Given the description of an element on the screen output the (x, y) to click on. 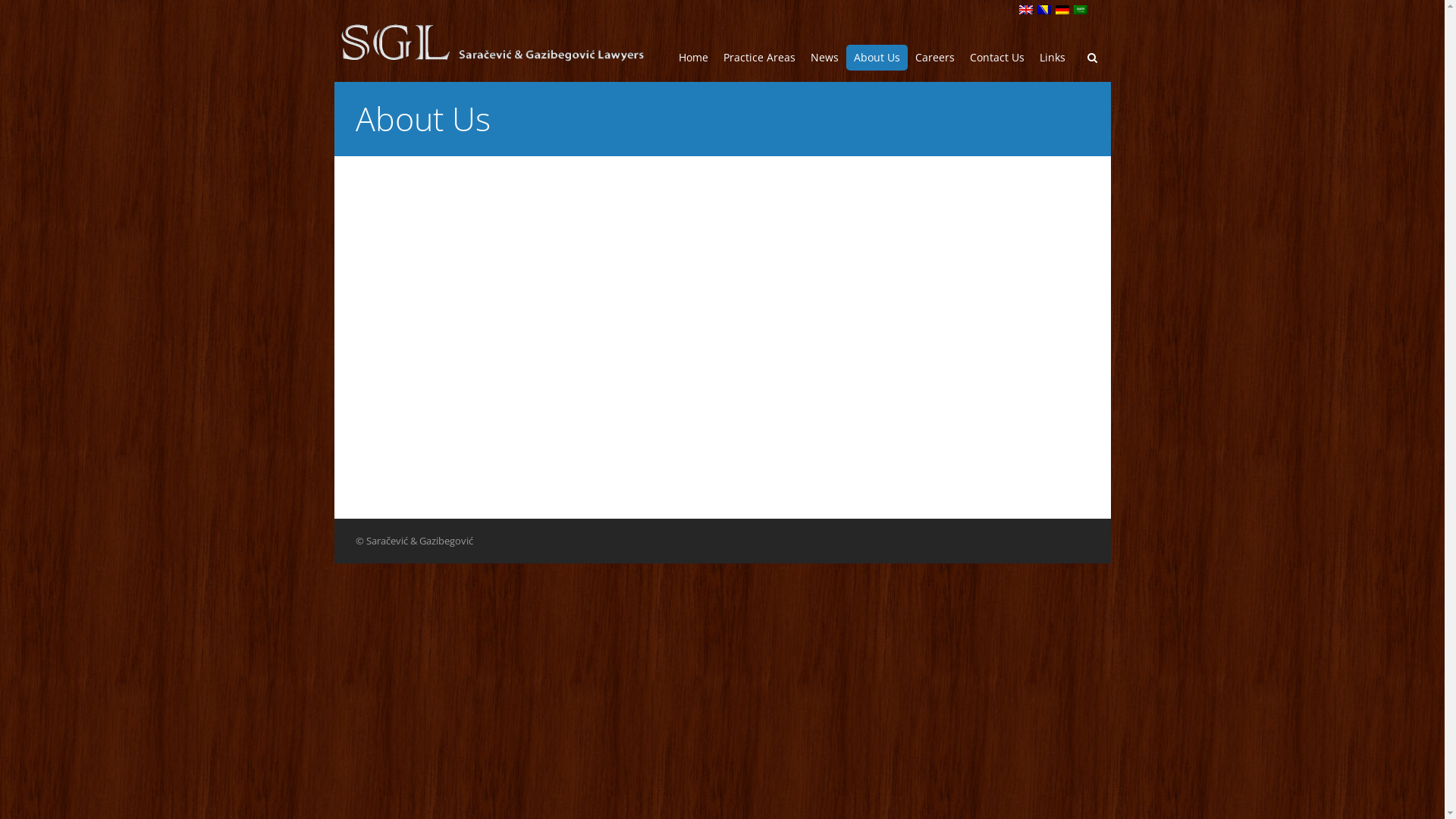
Search Element type: text (1065, 162)
Bosnian Element type: hover (1044, 9)
  Element type: text (1064, 10)
  Element type: text (1081, 10)
Go back to the homepage Element type: hover (491, 41)
Practice Areas Element type: text (759, 56)
English Element type: hover (1025, 9)
  Element type: text (1028, 10)
Links Element type: text (1051, 56)
About Us Element type: text (876, 56)
Deutsch Element type: hover (1062, 9)
News Element type: text (823, 56)
Careers Element type: text (933, 56)
Home Element type: text (692, 56)
Contact Us Element type: text (996, 56)
  Element type: text (1046, 10)
